Given the description of an element on the screen output the (x, y) to click on. 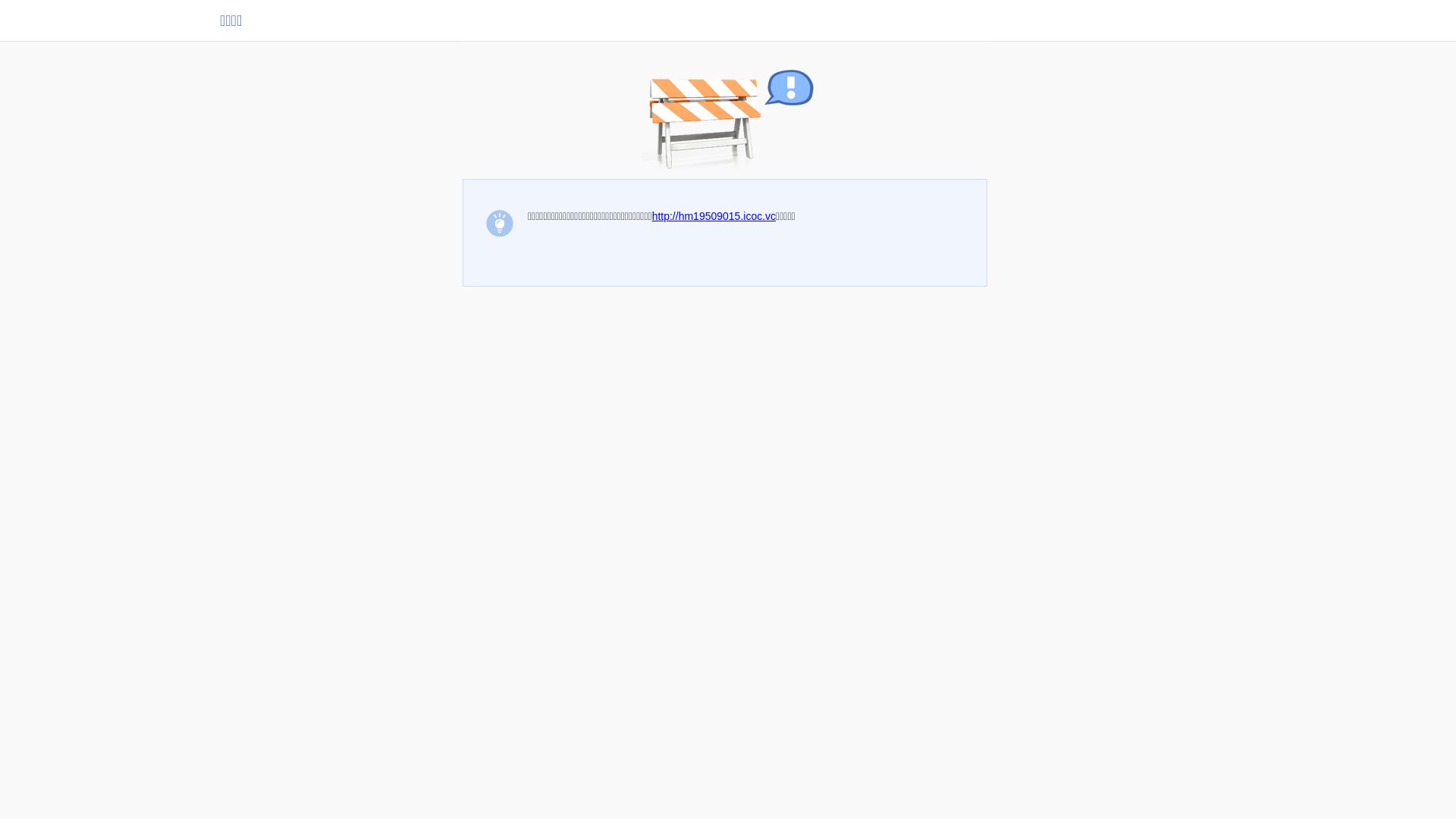
http://hm19509015.icoc.vc Element type: text (713, 216)
